Given the description of an element on the screen output the (x, y) to click on. 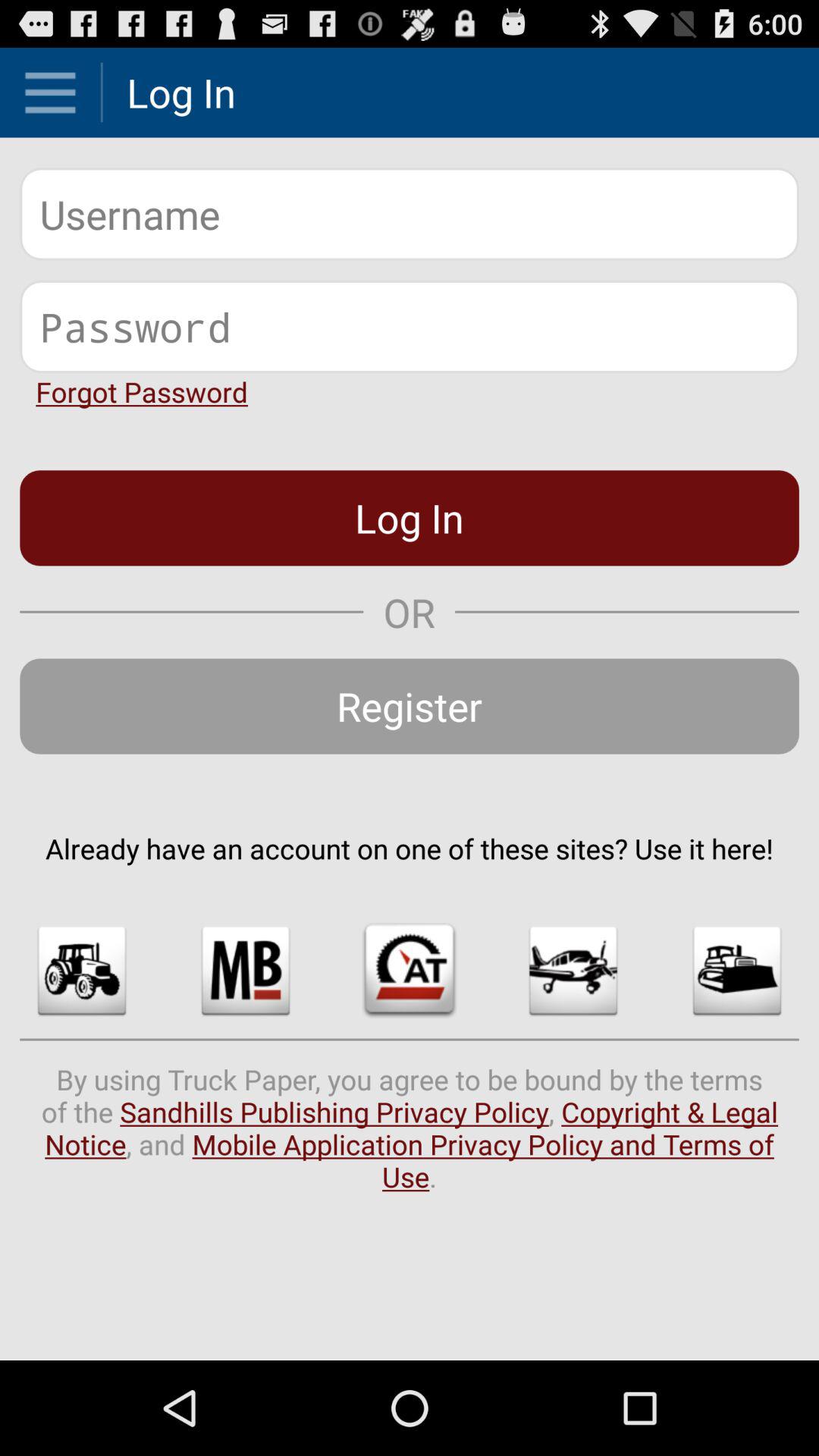
click icon below already have an item (245, 970)
